Given the description of an element on the screen output the (x, y) to click on. 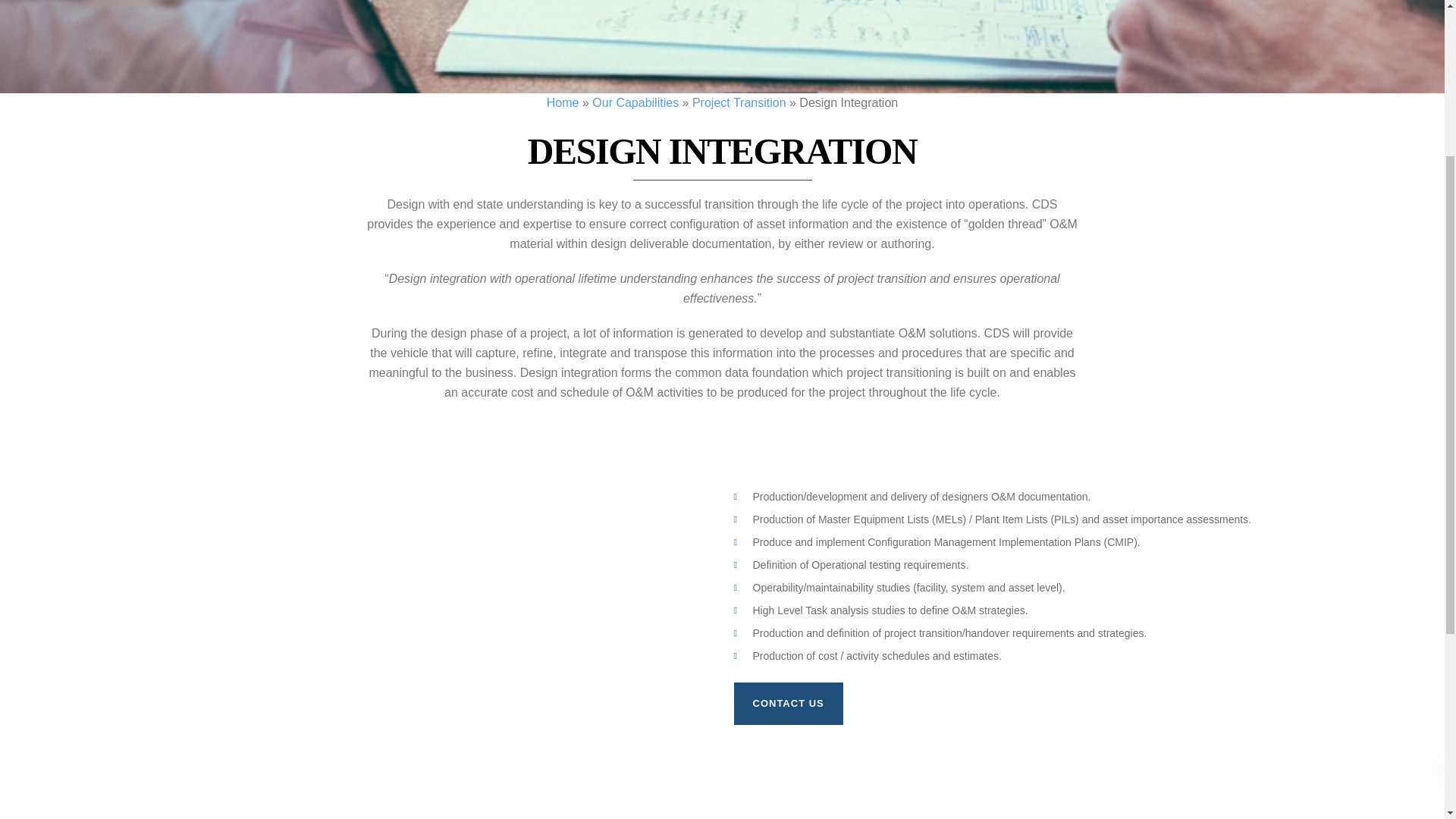
Project Transition (739, 102)
Project Transition (292, 466)
Our Team (630, 360)
Engineering Support (300, 381)
Maintenance Support (301, 402)
CONTACT US (788, 703)
Pre-Operations Support (307, 445)
Home (563, 102)
Terms and conditions (657, 381)
Asset and Project Handover (317, 360)
Operations Support (297, 424)
Our Capabilities (635, 102)
